Given the description of an element on the screen output the (x, y) to click on. 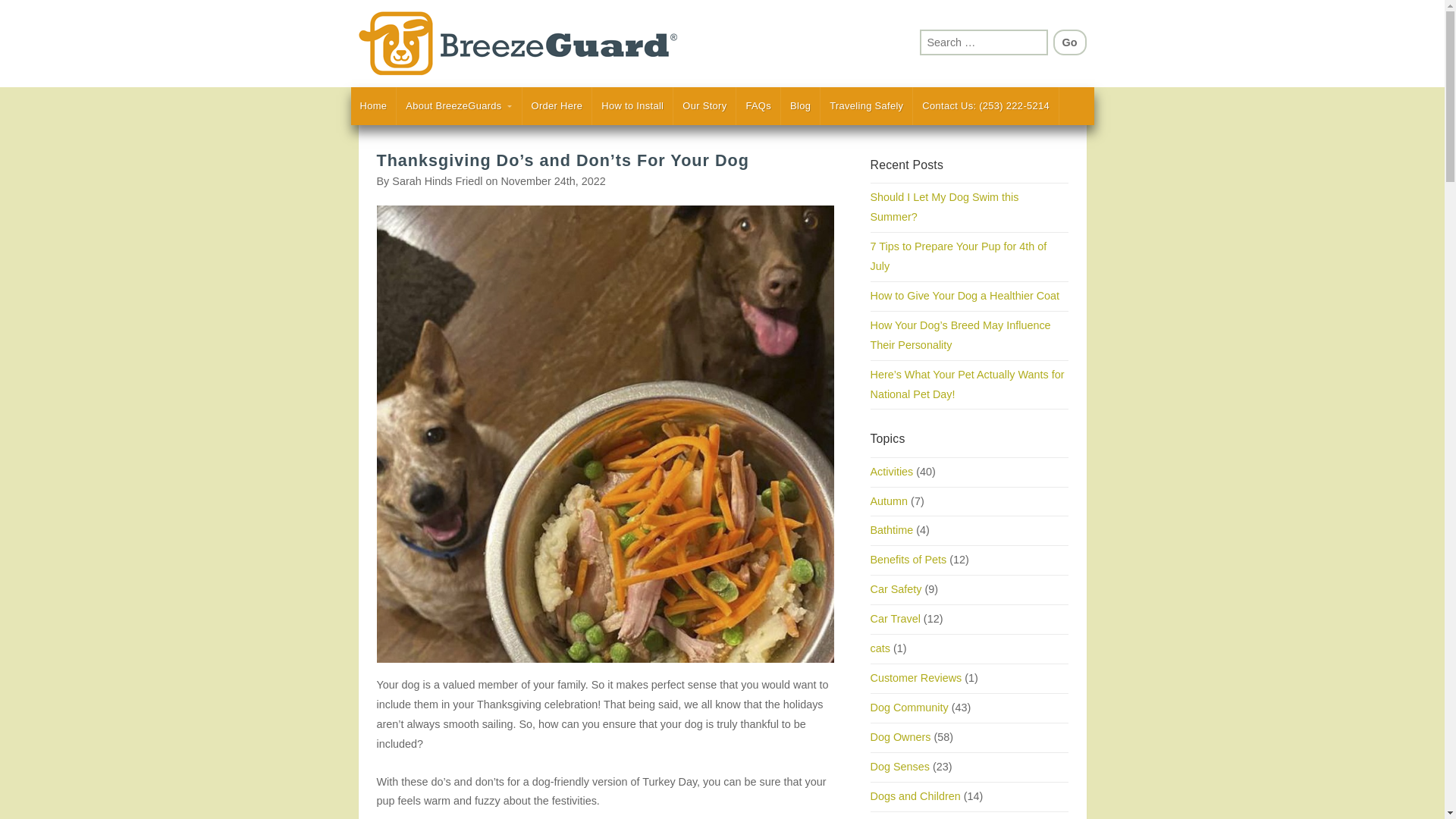
Our Story (703, 105)
Go (1069, 42)
Blog (799, 105)
FAQs (758, 105)
How to Install (632, 105)
7 Tips to Prepare Your Pup for 4th of July (958, 255)
cats (879, 648)
Traveling Safely (866, 105)
Activities (892, 471)
BreezeGuard (540, 43)
Dog Owners (900, 736)
Autumn (889, 500)
Benefits of Pets (908, 559)
Bathtime (892, 530)
Customer Reviews (916, 677)
